Given the description of an element on the screen output the (x, y) to click on. 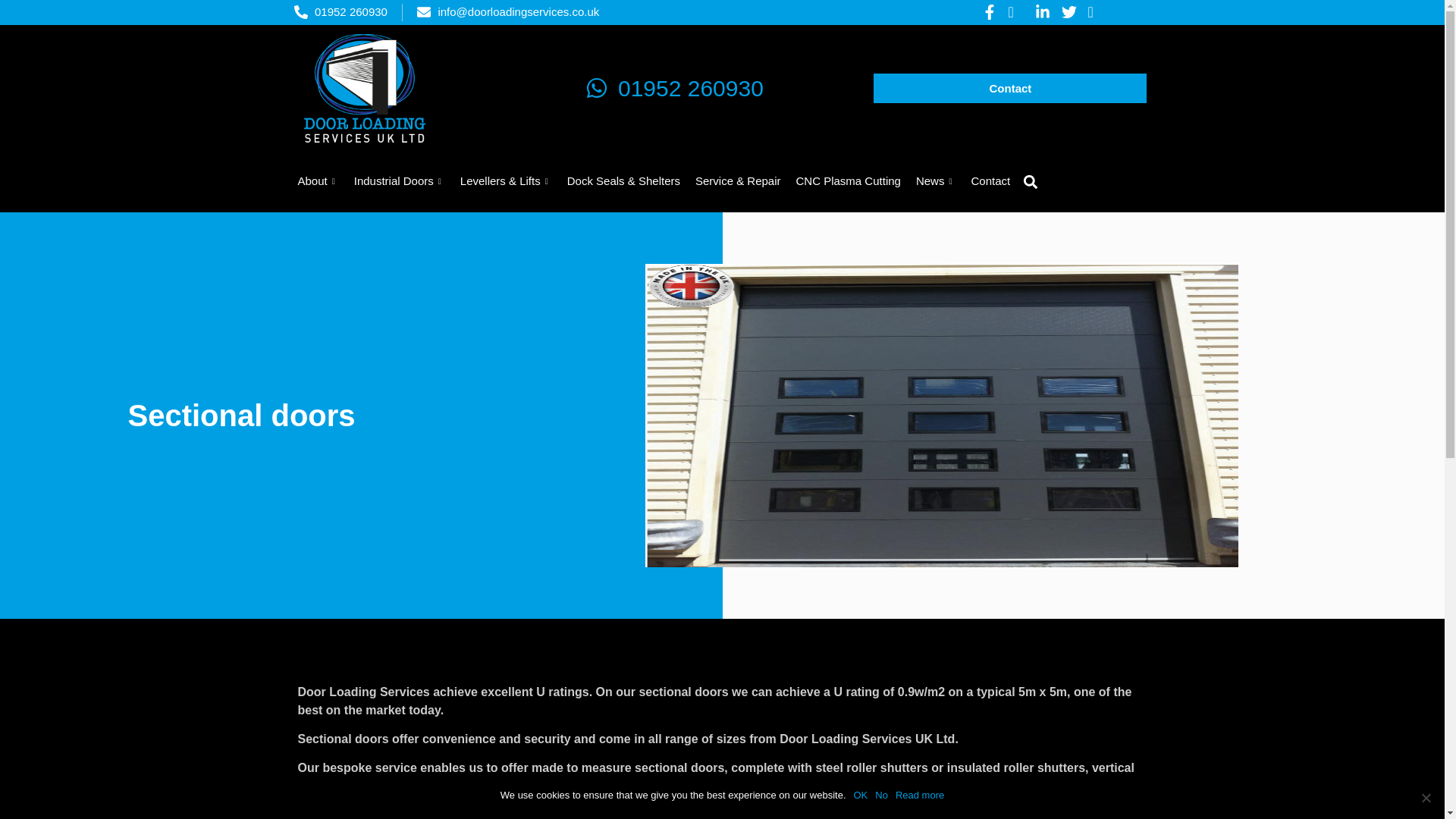
About (317, 181)
No (1425, 797)
01952 260930 (722, 88)
Contact (1010, 88)
Industrial Doors (399, 181)
01952 260930 (340, 12)
CNC Plasma Cutting (848, 181)
